Given the description of an element on the screen output the (x, y) to click on. 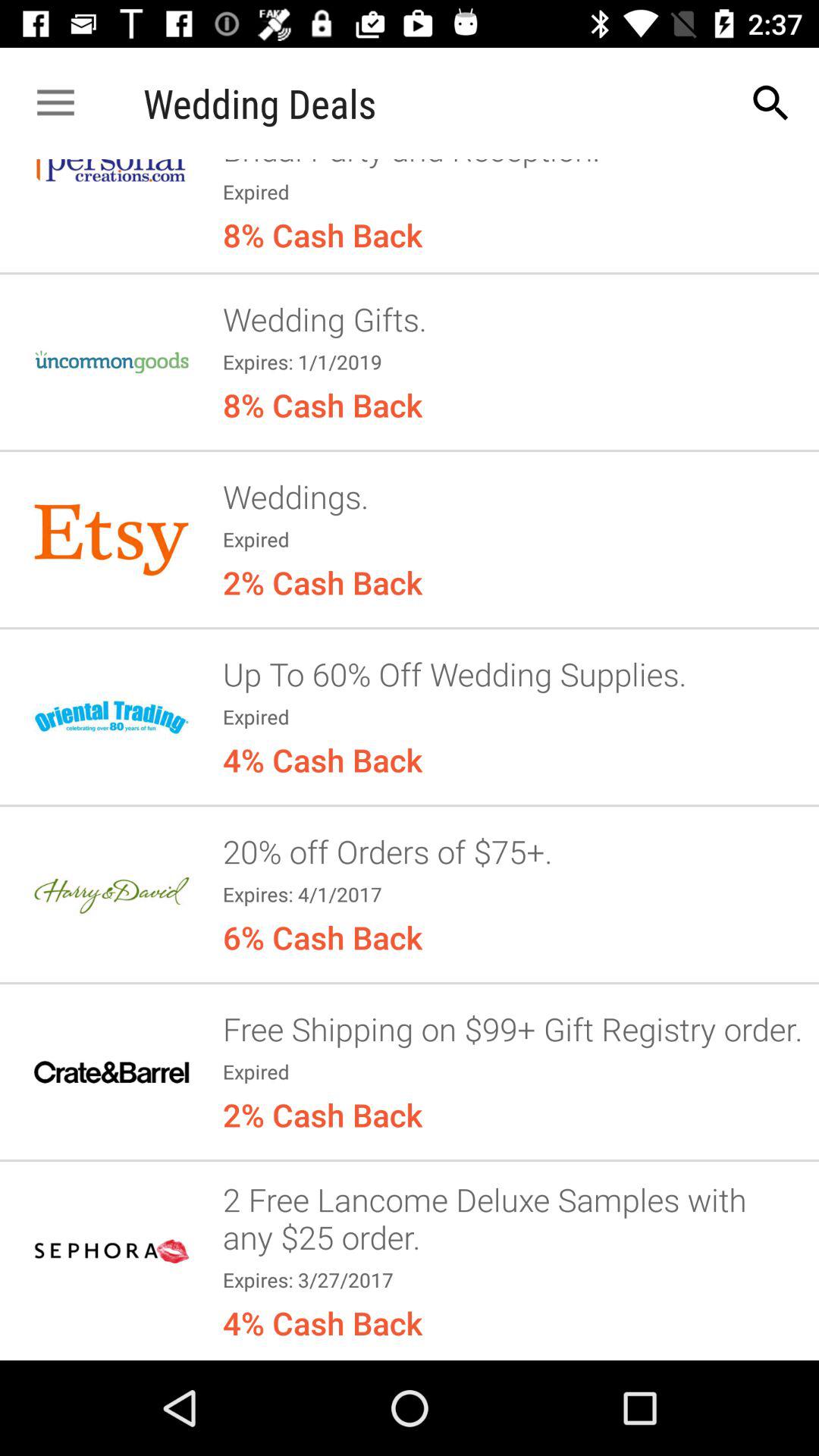
tap icon next to the wedding deals icon (771, 103)
